Given the description of an element on the screen output the (x, y) to click on. 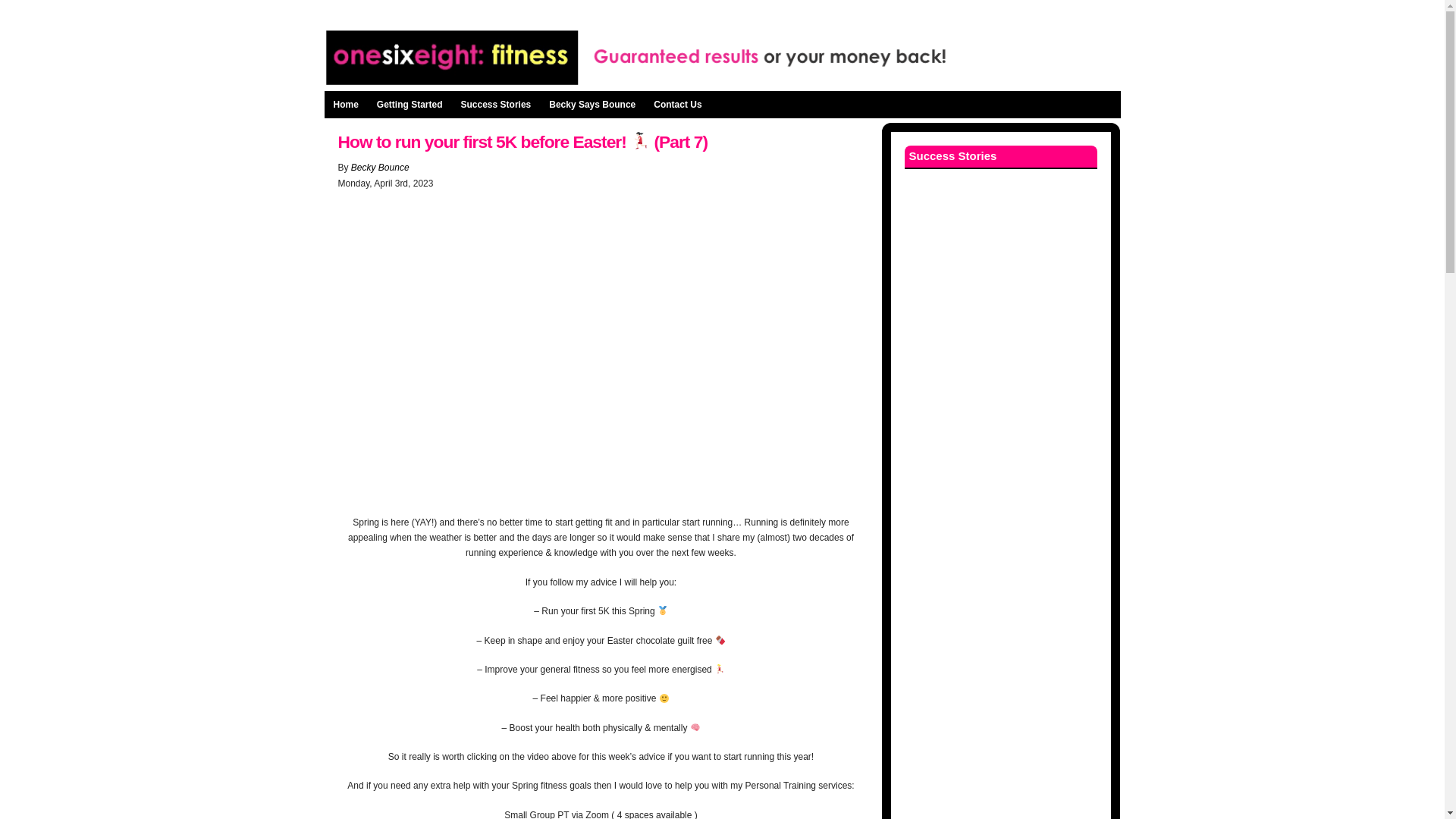
Success Stories (495, 103)
Becky Bounce (379, 167)
Becky Says Bounce (592, 103)
Becky Bounce (379, 167)
Contact Us (677, 103)
Home (346, 103)
Getting Started (409, 103)
